Given the description of an element on the screen output the (x, y) to click on. 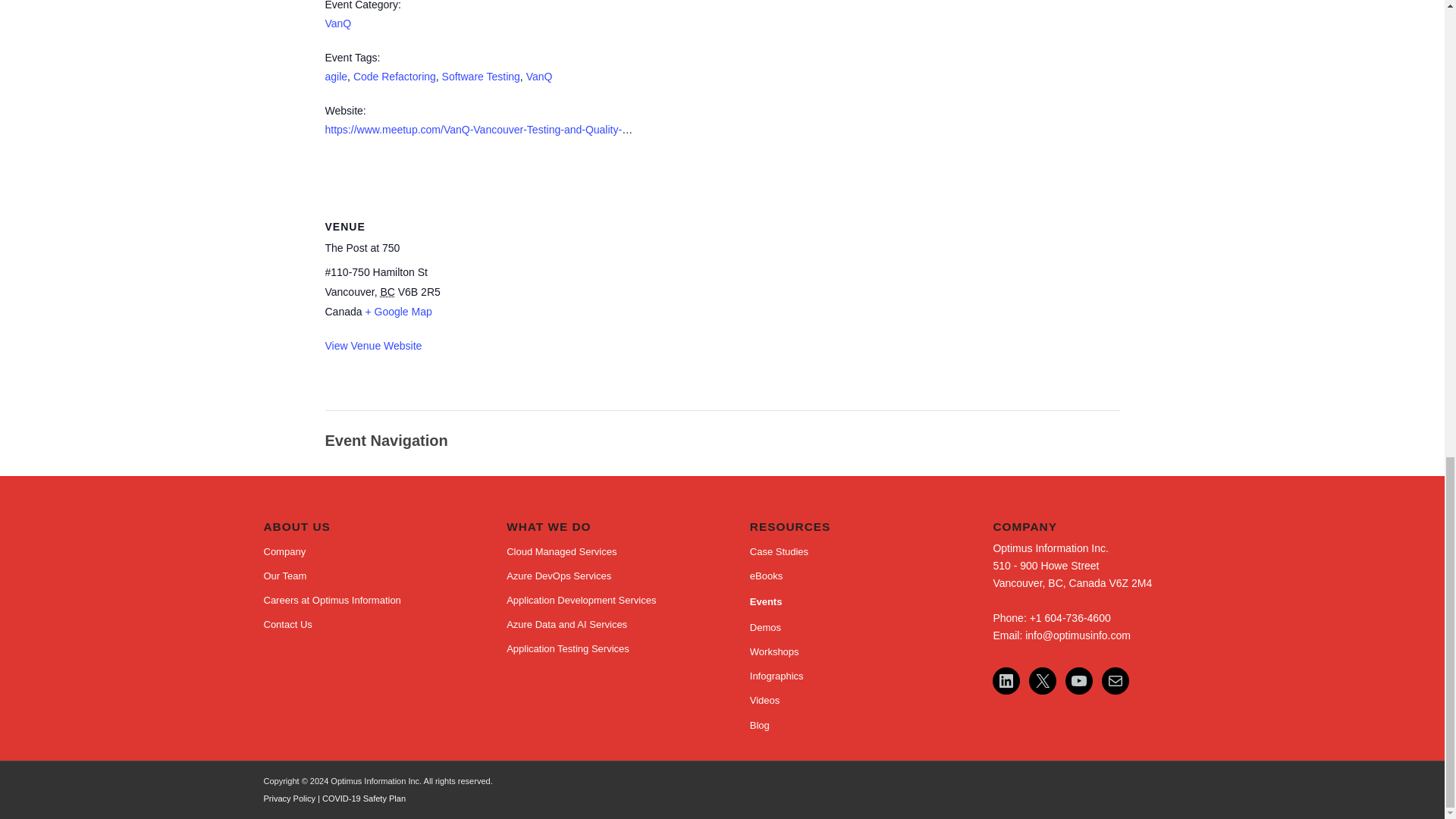
BC (387, 291)
Click to view a Google Map (397, 311)
Google maps iframe displaying the address to The Post at 750 (550, 301)
